Given the description of an element on the screen output the (x, y) to click on. 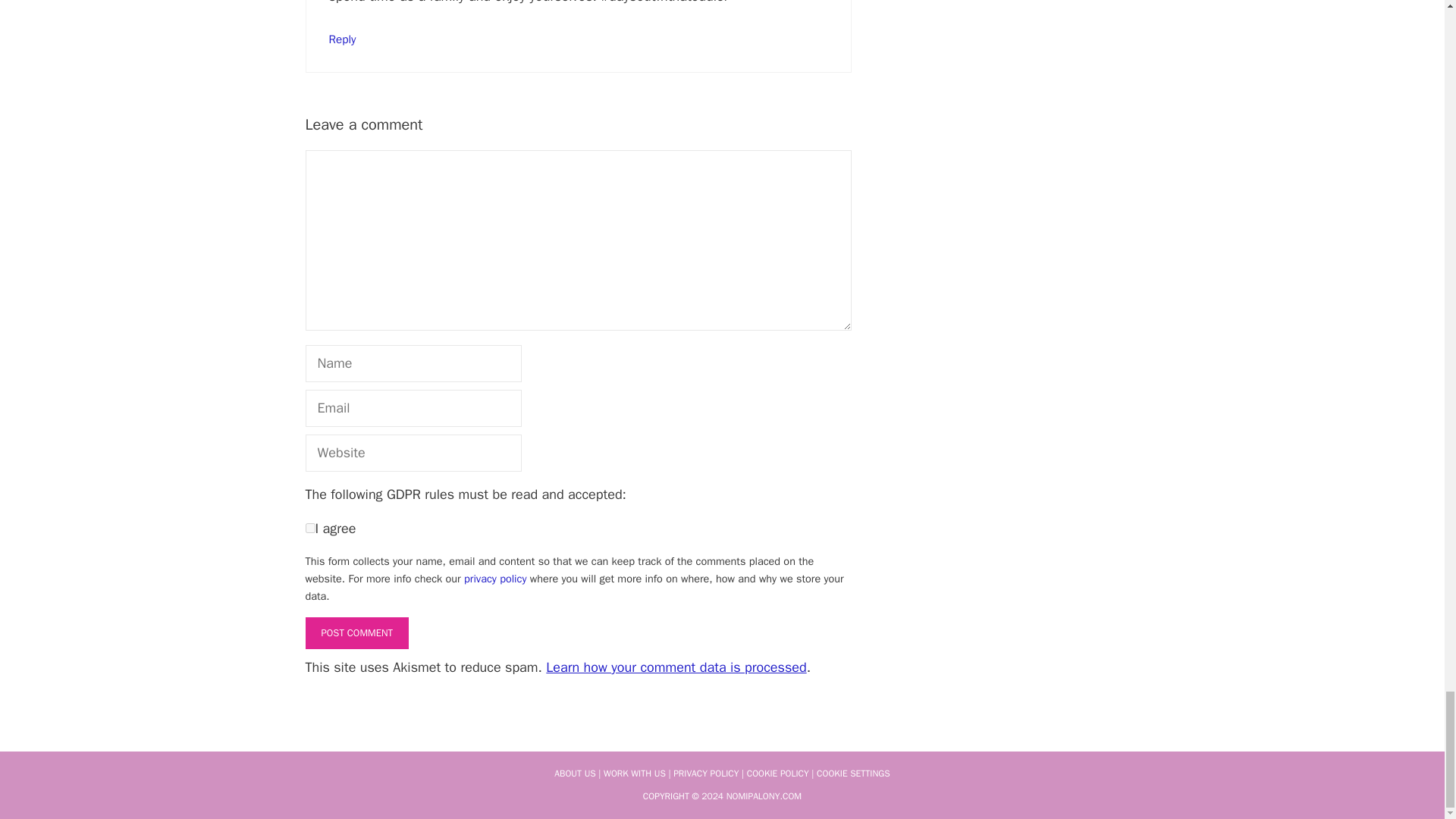
1 (309, 528)
Post Comment (356, 633)
